Given the description of an element on the screen output the (x, y) to click on. 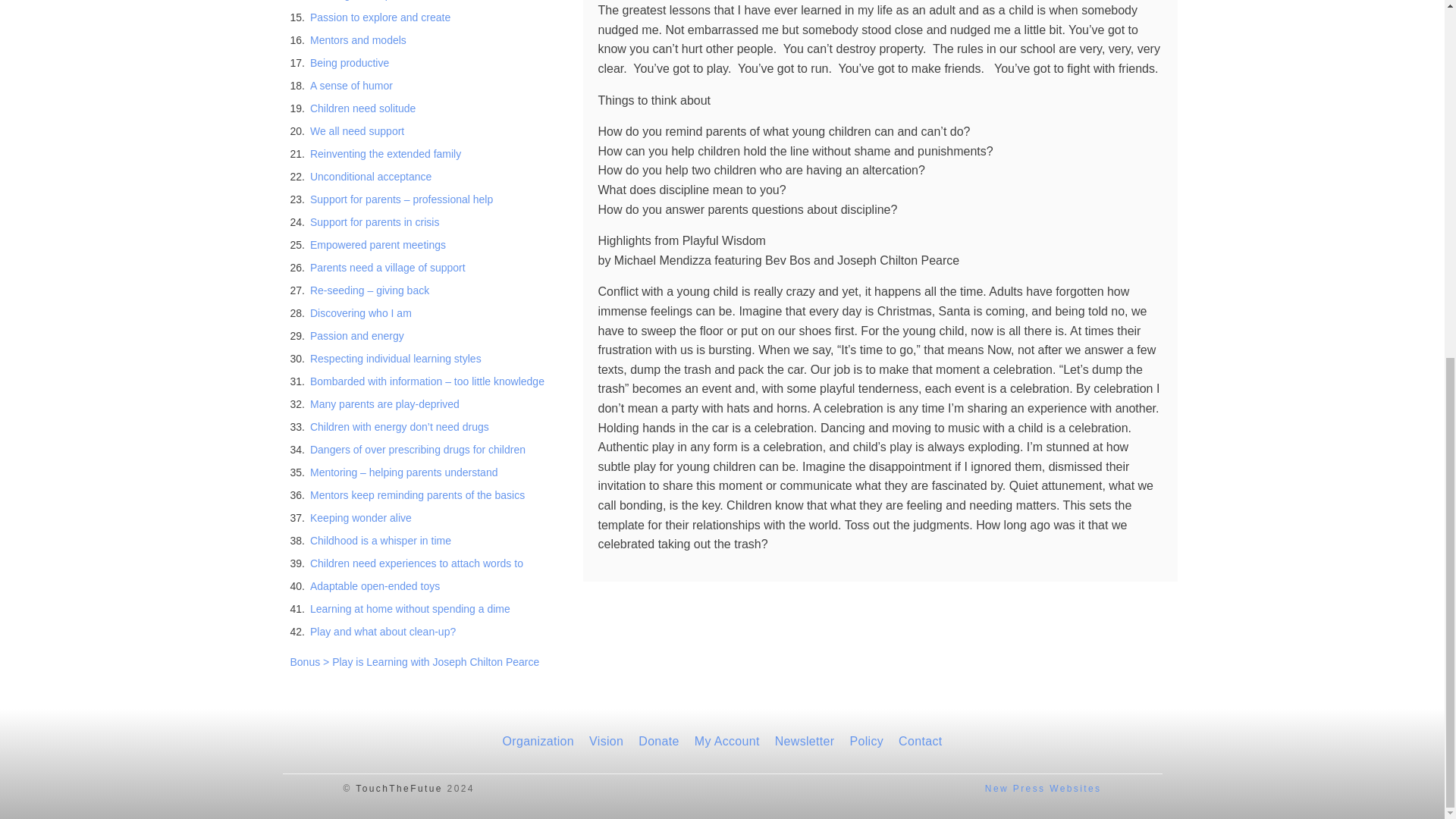
Passion to explore and create (379, 17)
A sense of humor (351, 85)
We all need support (357, 131)
Mentors and models (358, 40)
Reinventing the extended family (385, 153)
Children need solitude (362, 108)
Being productive (349, 62)
Unconditional acceptance (370, 176)
